Given the description of an element on the screen output the (x, y) to click on. 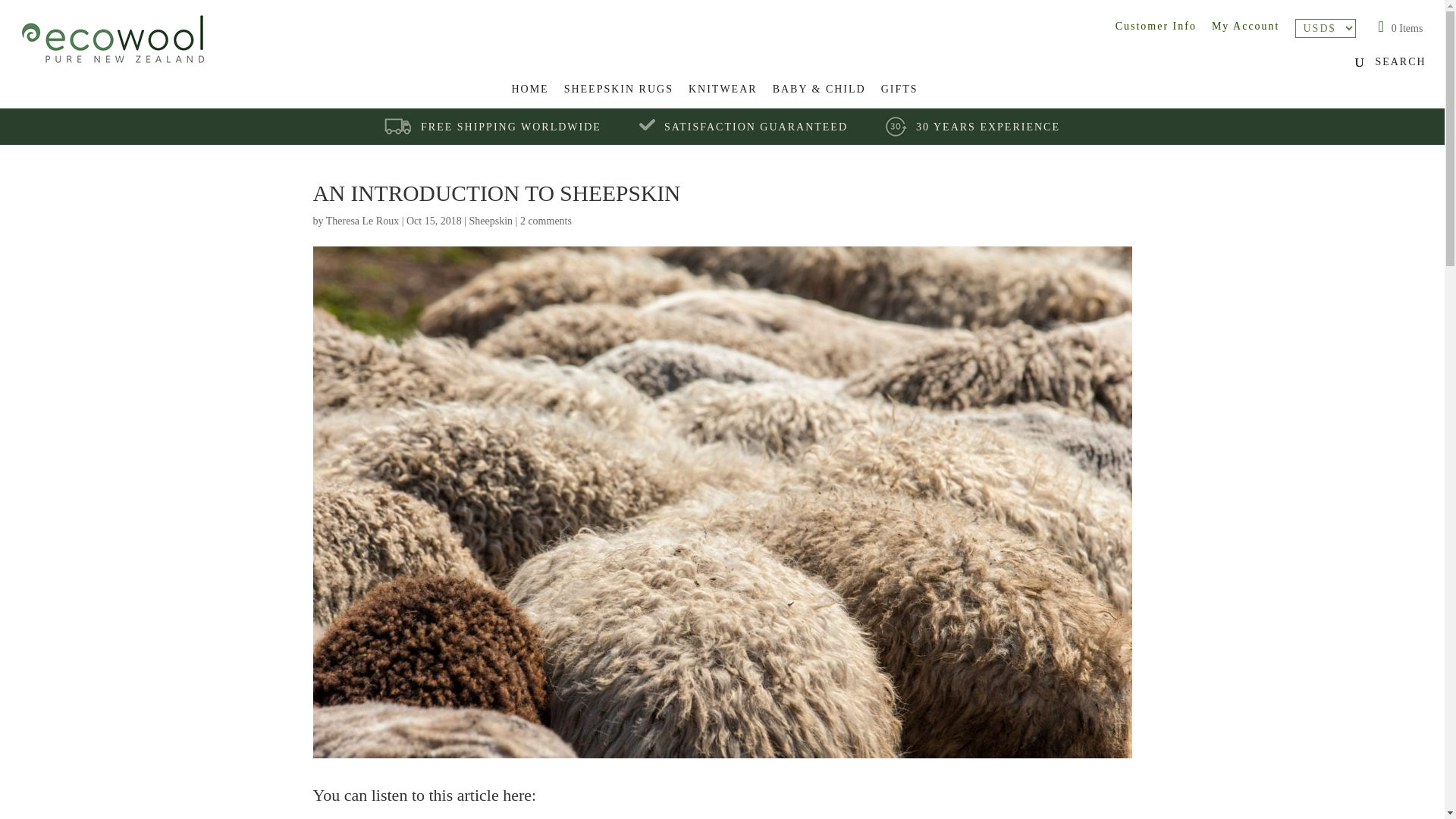
My Account (1245, 25)
0 Items (1400, 28)
Posts by Theresa Le Roux (362, 220)
Customer Info (1155, 25)
